Given the description of an element on the screen output the (x, y) to click on. 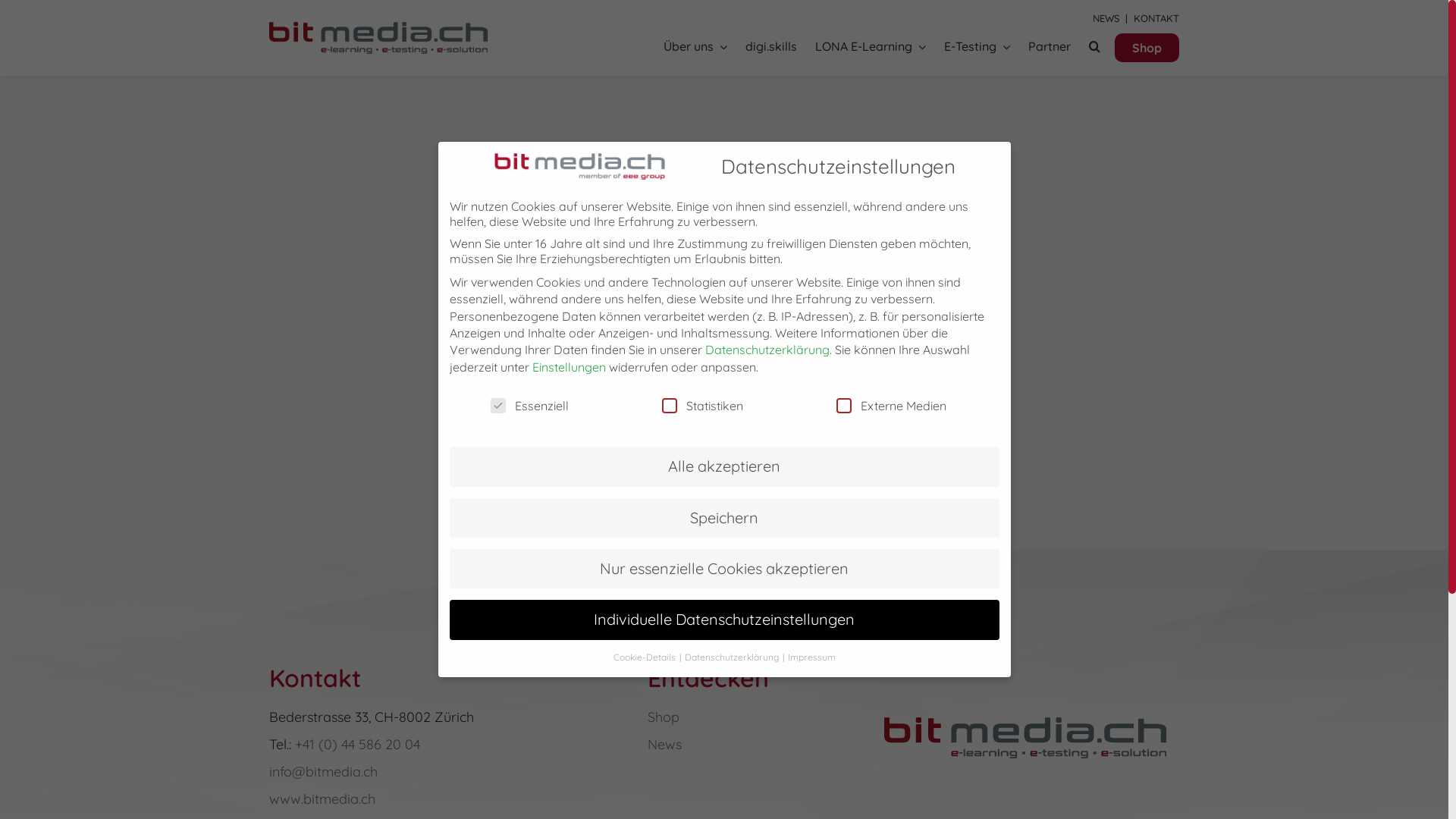
Impressum Element type: text (810, 656)
info@bitmedia.ch Element type: text (323, 771)
digi.skills Element type: text (770, 47)
Shop Element type: text (663, 716)
KONTAKT Element type: text (1156, 18)
Zur Startseite Element type: text (633, 403)
Nur essenzielle Cookies akzeptieren Element type: text (723, 568)
Partner Element type: text (1049, 47)
www.bitmedia.ch Element type: text (322, 798)
+41 (0) 44 586 20 04 Element type: text (357, 744)
Einstellungen Element type: text (568, 366)
NEWS Element type: text (1105, 18)
LONA E-Learning Element type: text (870, 47)
E-Testing Element type: text (976, 47)
Alle akzeptieren Element type: text (723, 466)
Cookie-Details Element type: text (644, 656)
News Element type: text (664, 744)
Individuelle Datenschutzeinstellungen Element type: text (723, 619)
Speichern Element type: text (723, 517)
Shop Element type: text (1146, 47)
Suche Element type: hover (1094, 47)
